Given the description of an element on the screen output the (x, y) to click on. 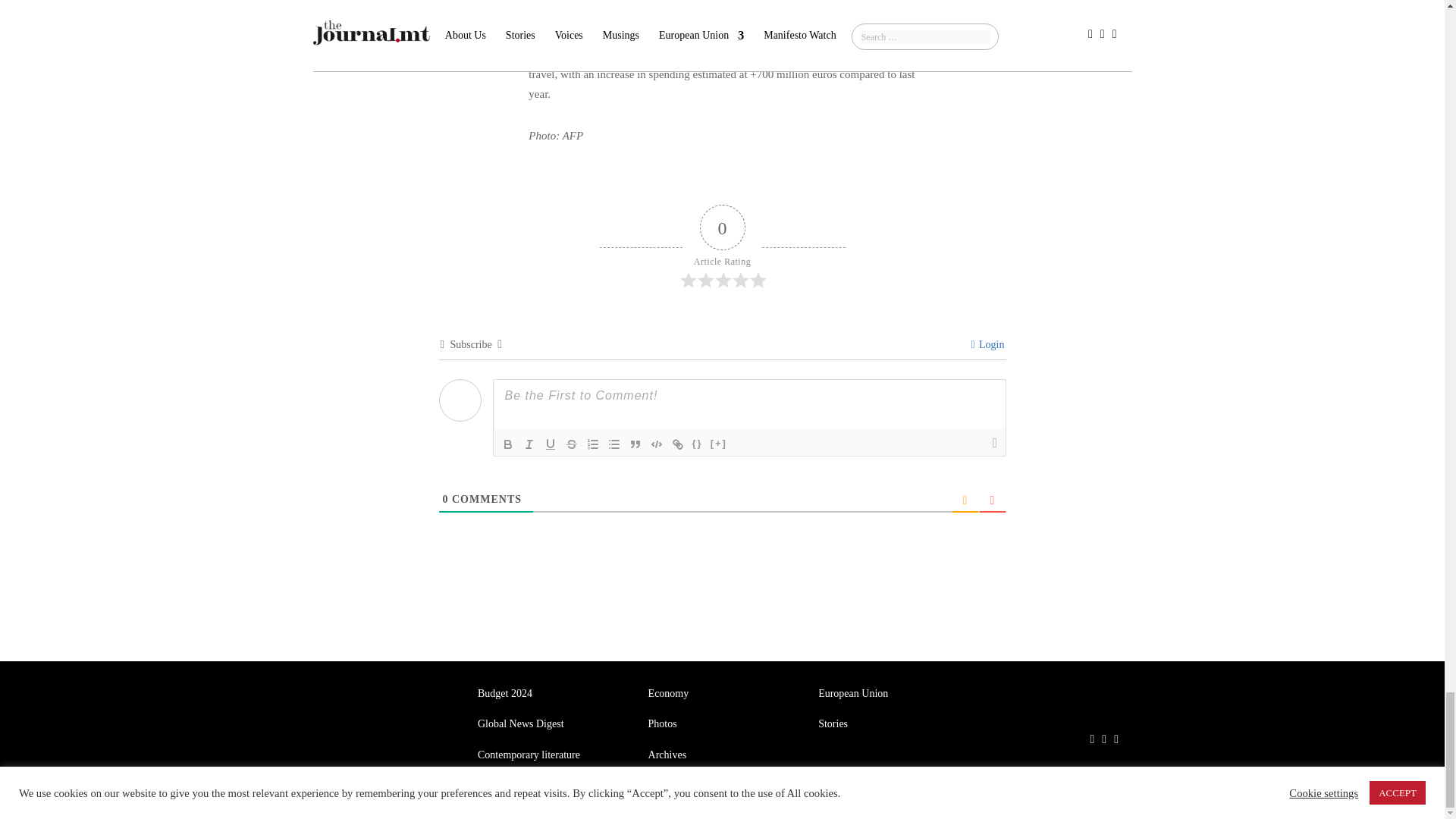
Unordered List (614, 443)
Underline (550, 443)
Blockquote (635, 443)
Bold (507, 443)
Code Block (656, 443)
Ordered List (593, 443)
Source Code (697, 443)
Link (677, 443)
Italic (529, 443)
Strike (571, 443)
